Given the description of an element on the screen output the (x, y) to click on. 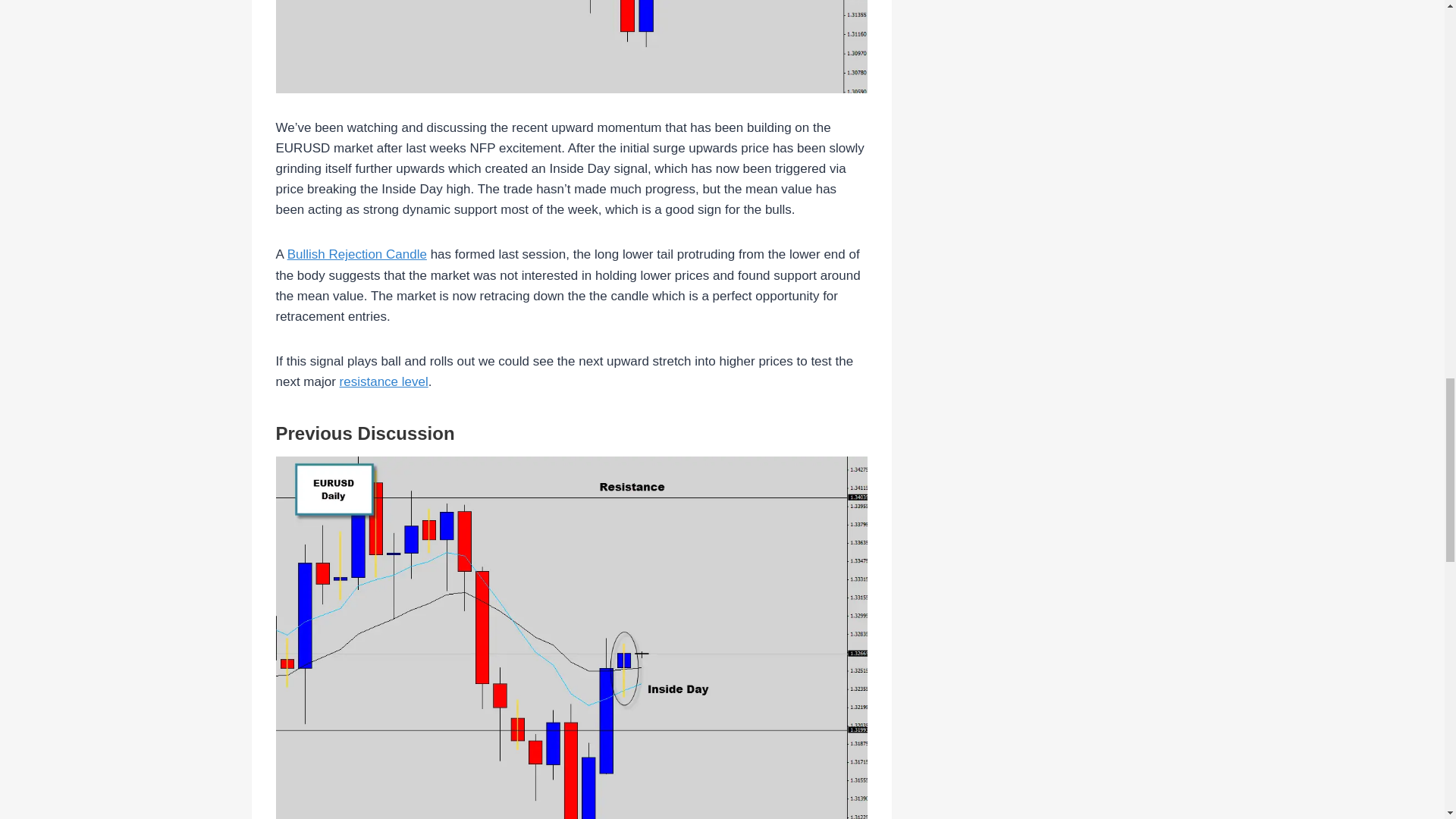
resistance level (383, 381)
Bullish Rejection Candle (356, 254)
